Given the description of an element on the screen output the (x, y) to click on. 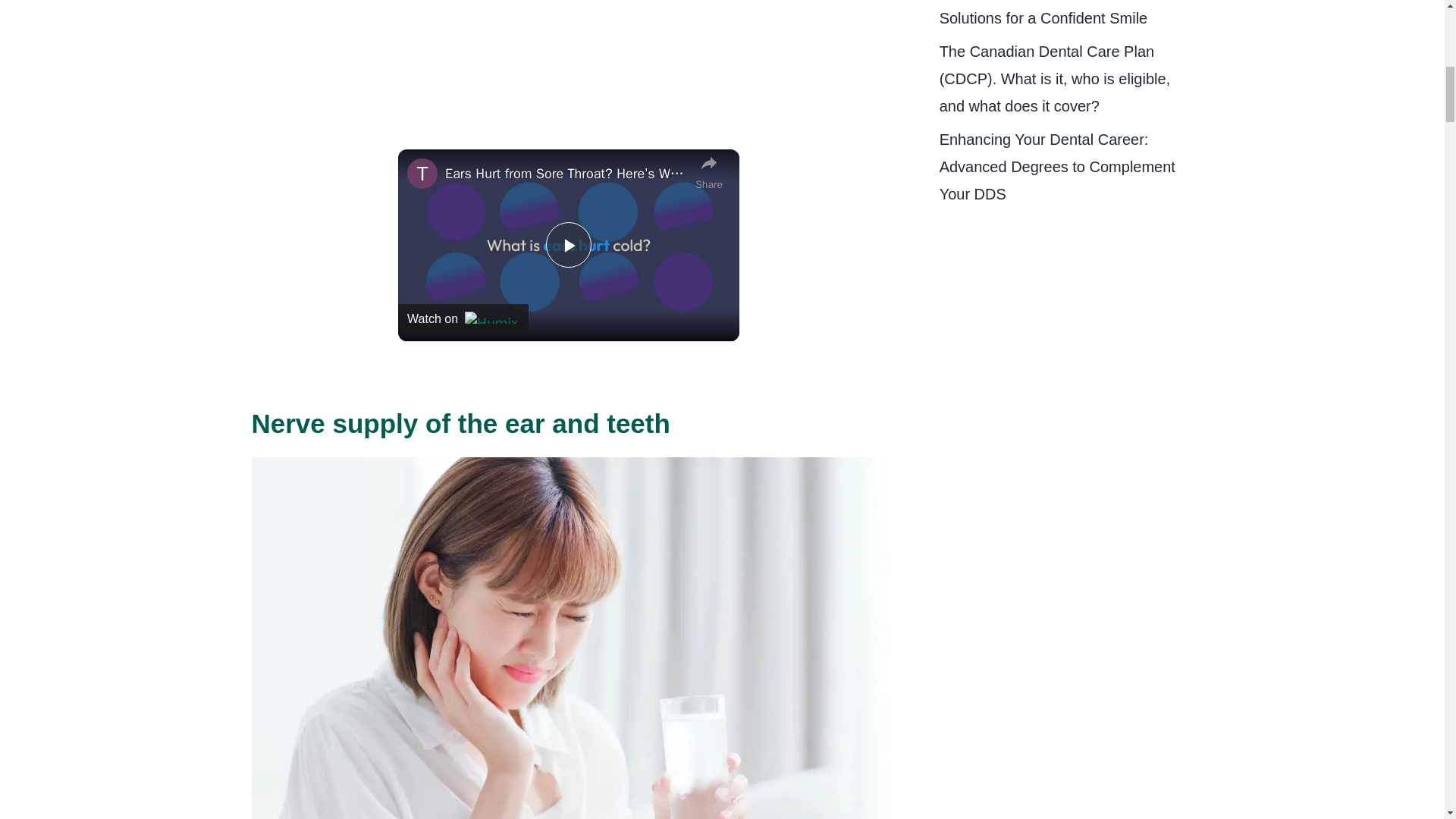
Watch on (462, 317)
Play Video (568, 244)
Can dental problems cause ear ache? - Dr. Shankar (524, 13)
Play Video (568, 244)
